Given the description of an element on the screen output the (x, y) to click on. 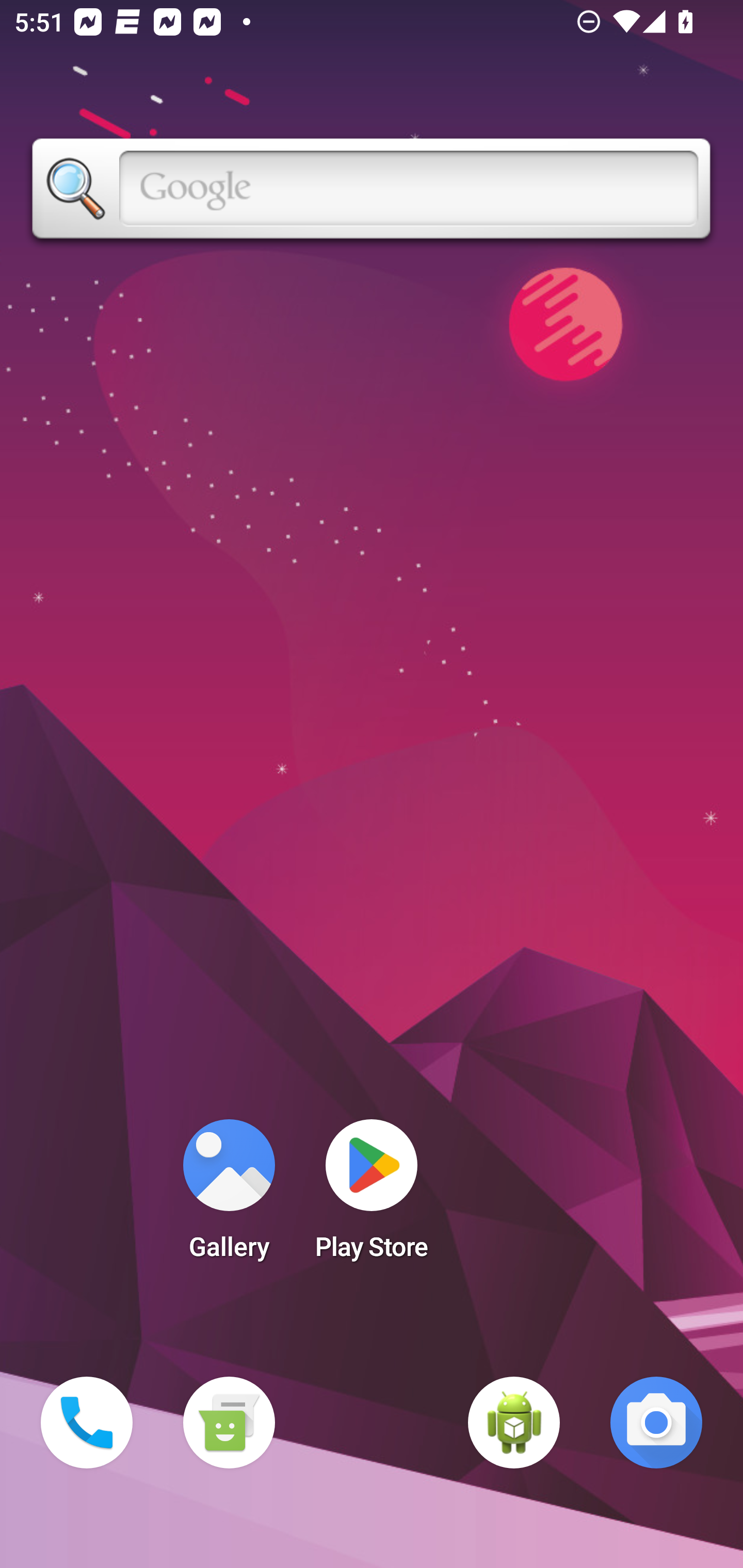
Gallery (228, 1195)
Play Store (371, 1195)
Phone (86, 1422)
Messaging (228, 1422)
WebView Browser Tester (513, 1422)
Camera (656, 1422)
